Given the description of an element on the screen output the (x, y) to click on. 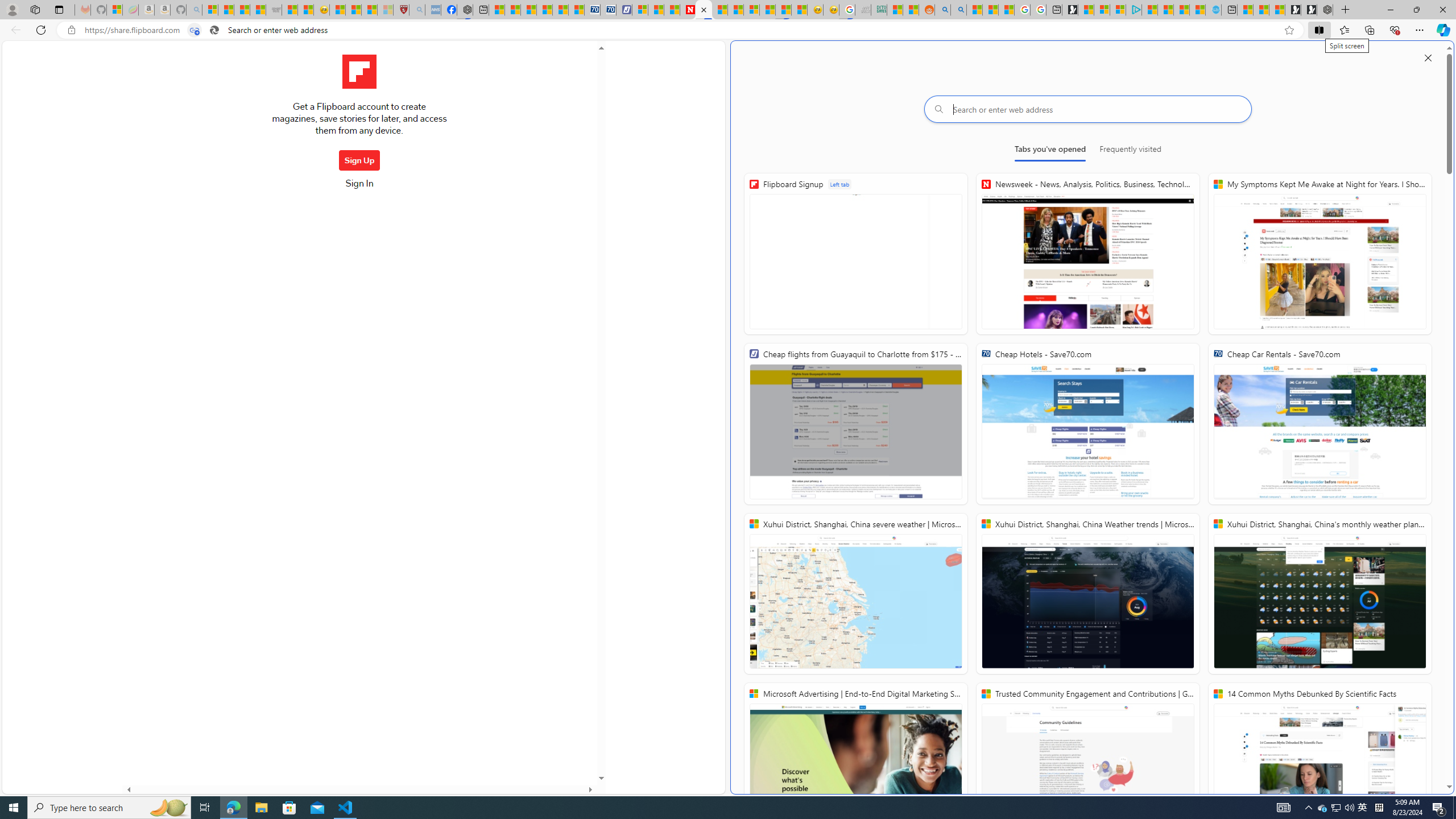
MSN (783, 9)
Robert H. Shmerling, MD - Harvard Health (400, 9)
Cheap Car Rentals - Save70.com (1319, 423)
Frequently visited (1130, 151)
Stocks - MSN (257, 9)
12 Popular Science Lies that Must be Corrected - Sleeping (384, 9)
